Given the description of an element on the screen output the (x, y) to click on. 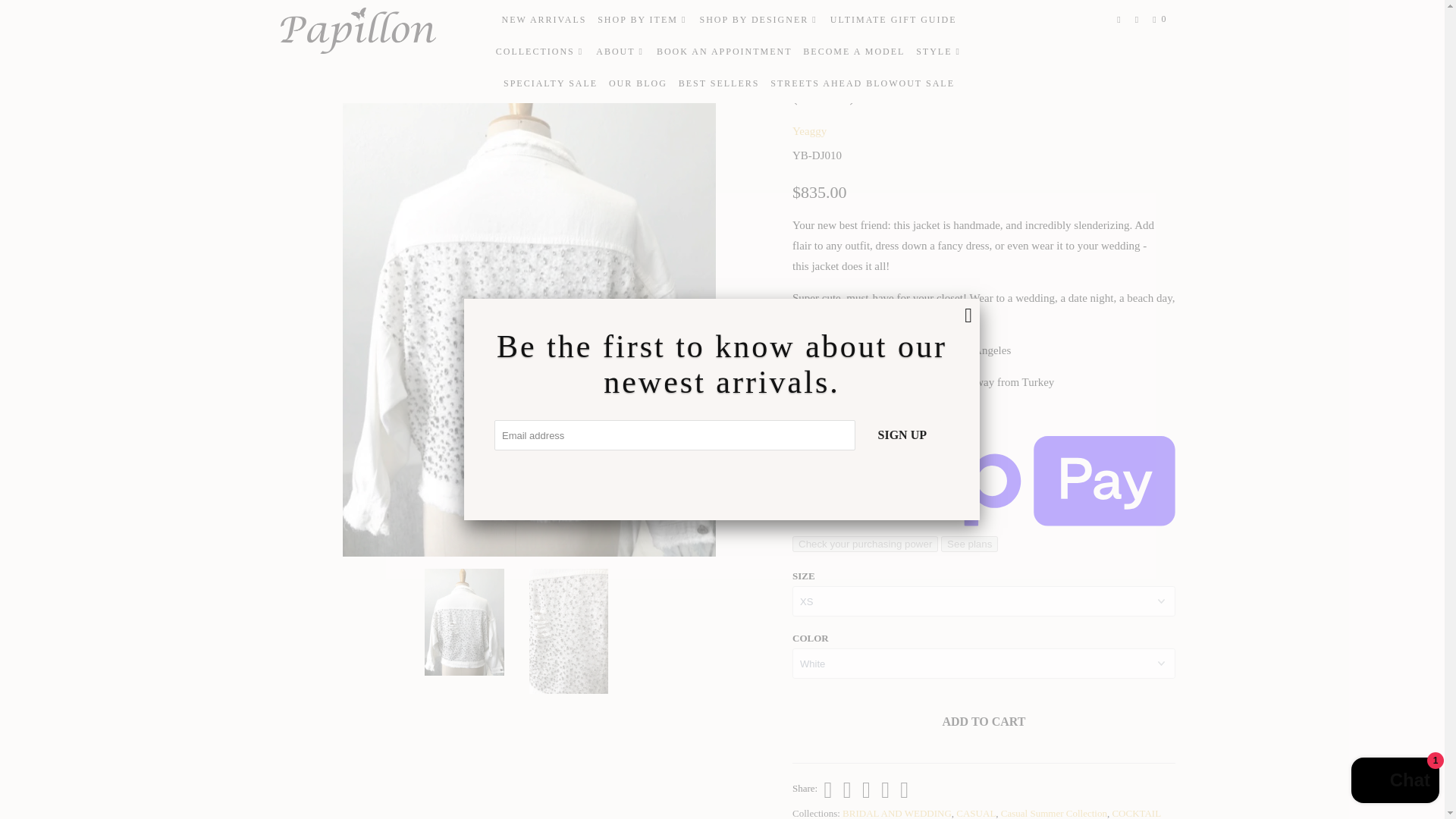
PapillonStyles (358, 30)
Yeaggy (809, 131)
Products (336, 30)
Sign Up (902, 435)
PapillonStyles (293, 30)
